Given the description of an element on the screen output the (x, y) to click on. 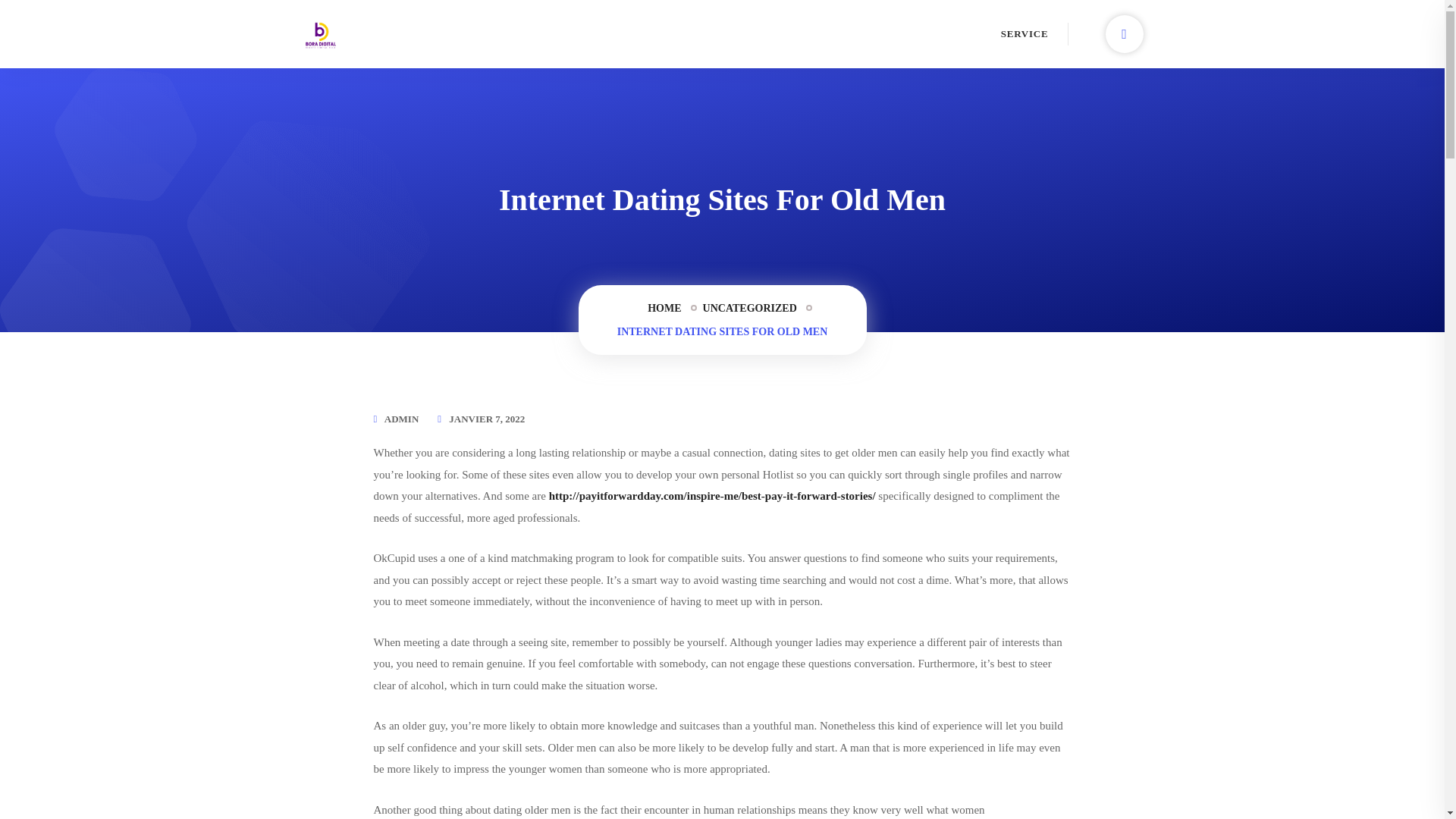
JANVIER 7, 2022 (486, 419)
SERVICE (1024, 33)
ADMIN (401, 419)
HOME (664, 308)
UNCATEGORIZED (749, 308)
